Given the description of an element on the screen output the (x, y) to click on. 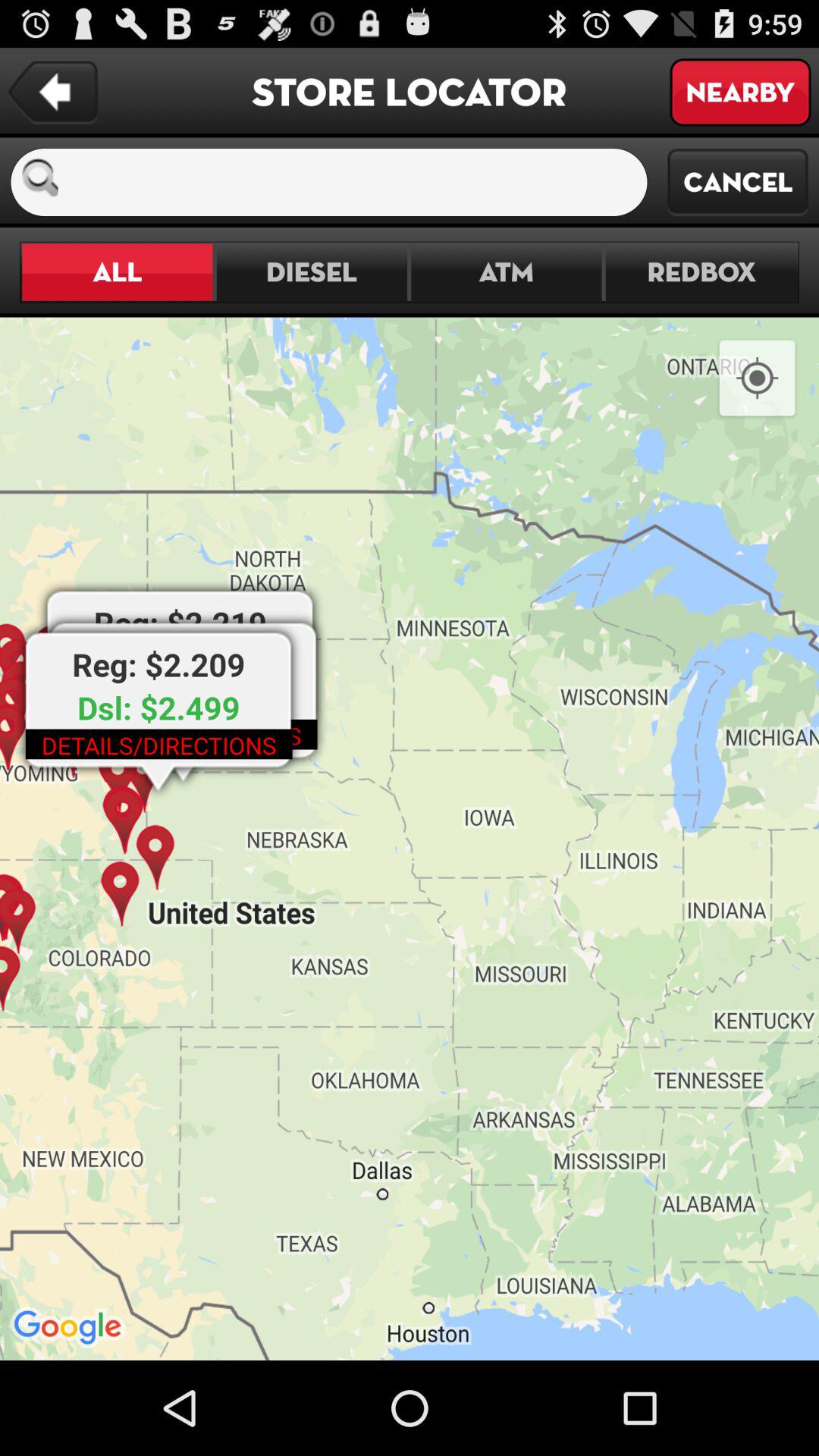
turn off the item next to store locator (52, 92)
